Given the description of an element on the screen output the (x, y) to click on. 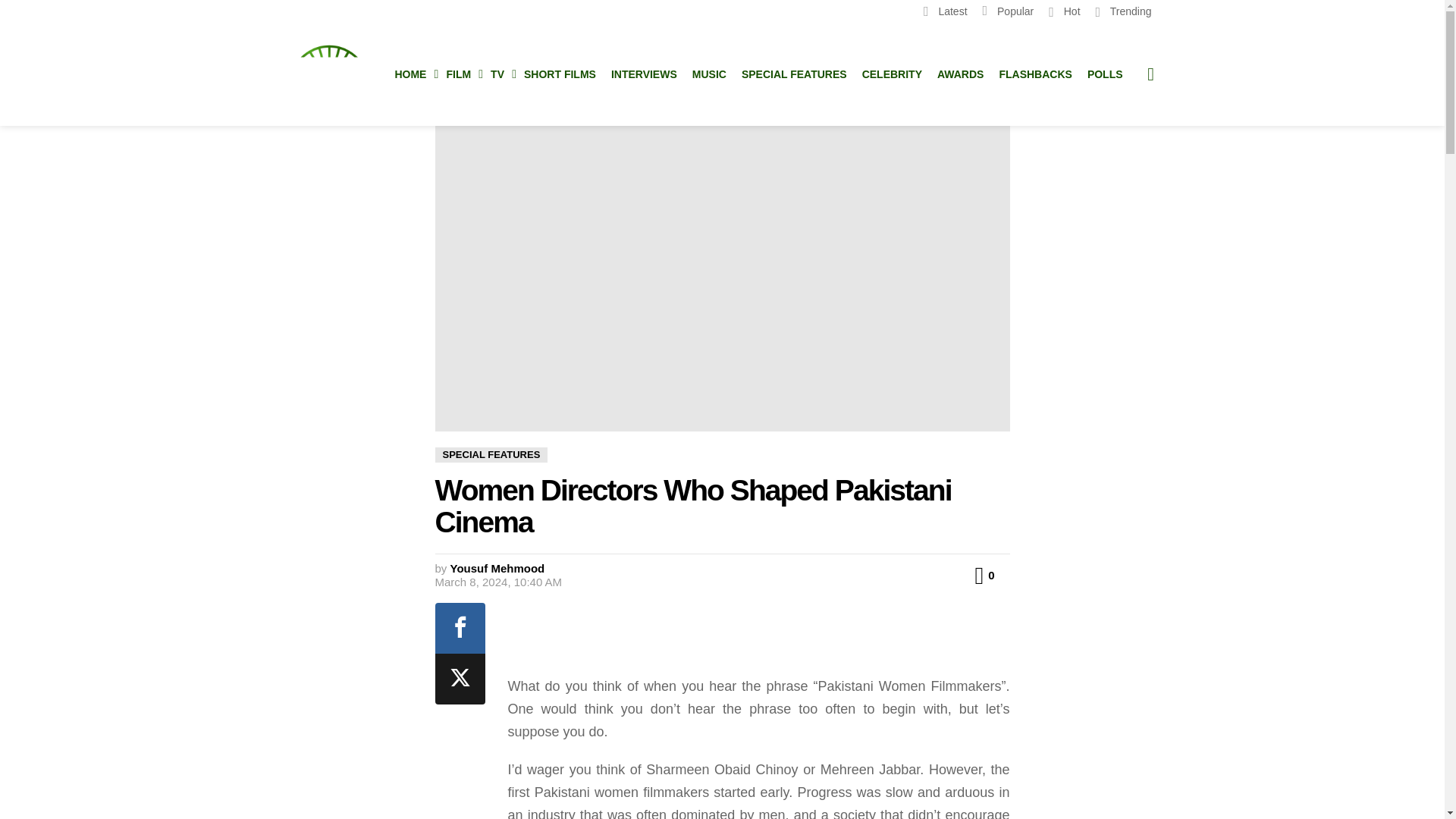
MUSIC (708, 74)
TV (499, 74)
SPECIAL FEATURES (793, 74)
Hot (1064, 10)
Latest (945, 10)
SEARCH (1150, 73)
AWARDS (960, 74)
INTERVIEWS (644, 74)
FILM (460, 74)
SHORT FILMS (560, 74)
SPECIAL FEATURES (491, 454)
Popular (1008, 10)
HOME (412, 74)
CELEBRITY (892, 74)
FLASHBACKS (1034, 74)
